Given the description of an element on the screen output the (x, y) to click on. 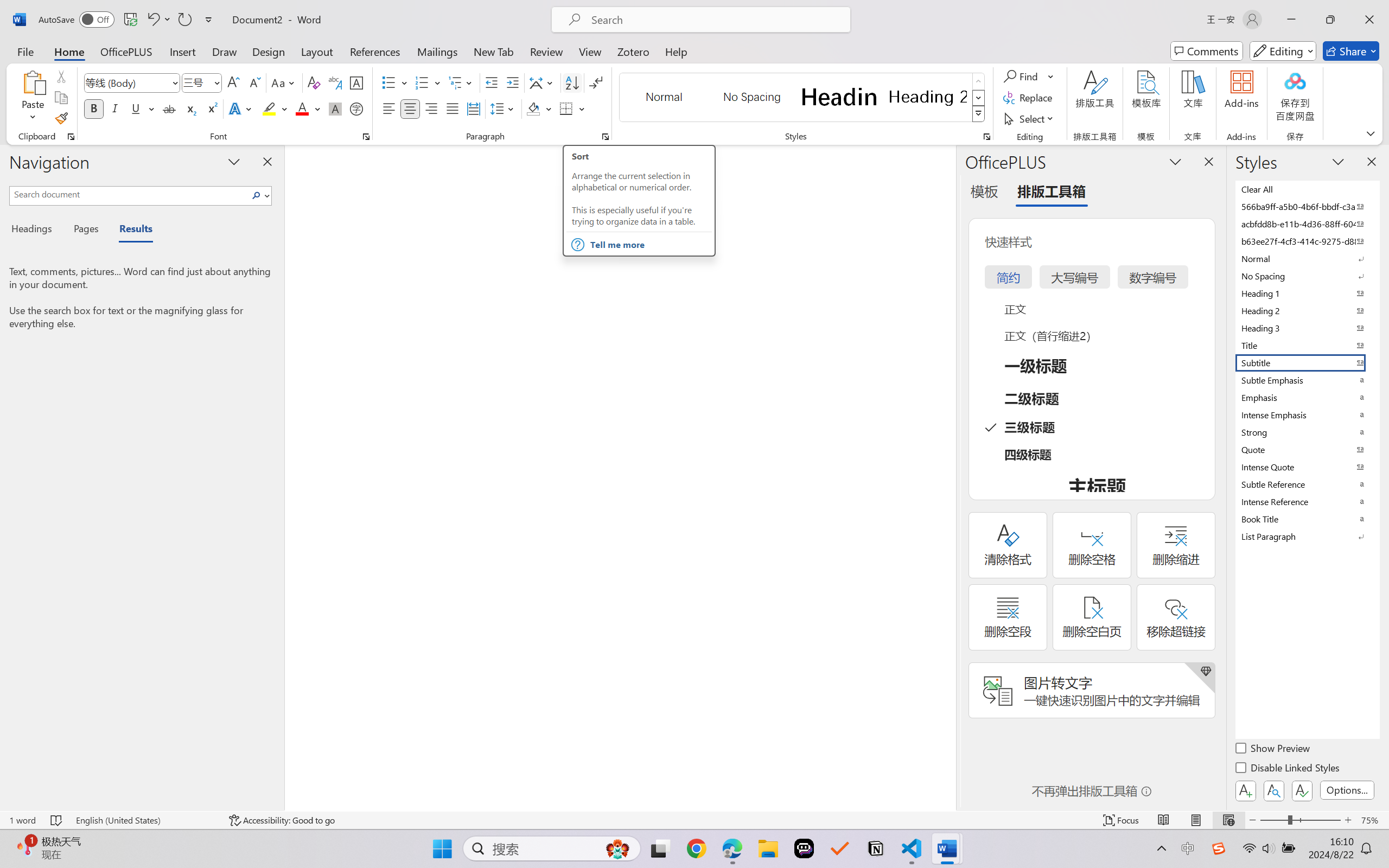
Terminal (Ctrl+`) (326, 640)
CRLF (1274, 836)
Extensions (Ctrl+Shift+X) (13, 151)
Debug Console (Ctrl+Shift+Y) (275, 640)
Python (13, 208)
Go Back (Alt+LeftArrow) (521, 9)
Python (1310, 836)
No Ports Forwarded (65, 836)
Customize Layout... (1306, 9)
Match Case (Alt+C) (1182, 65)
Restore (1350, 10)
Launch Profile... (1336, 640)
